Given the description of an element on the screen output the (x, y) to click on. 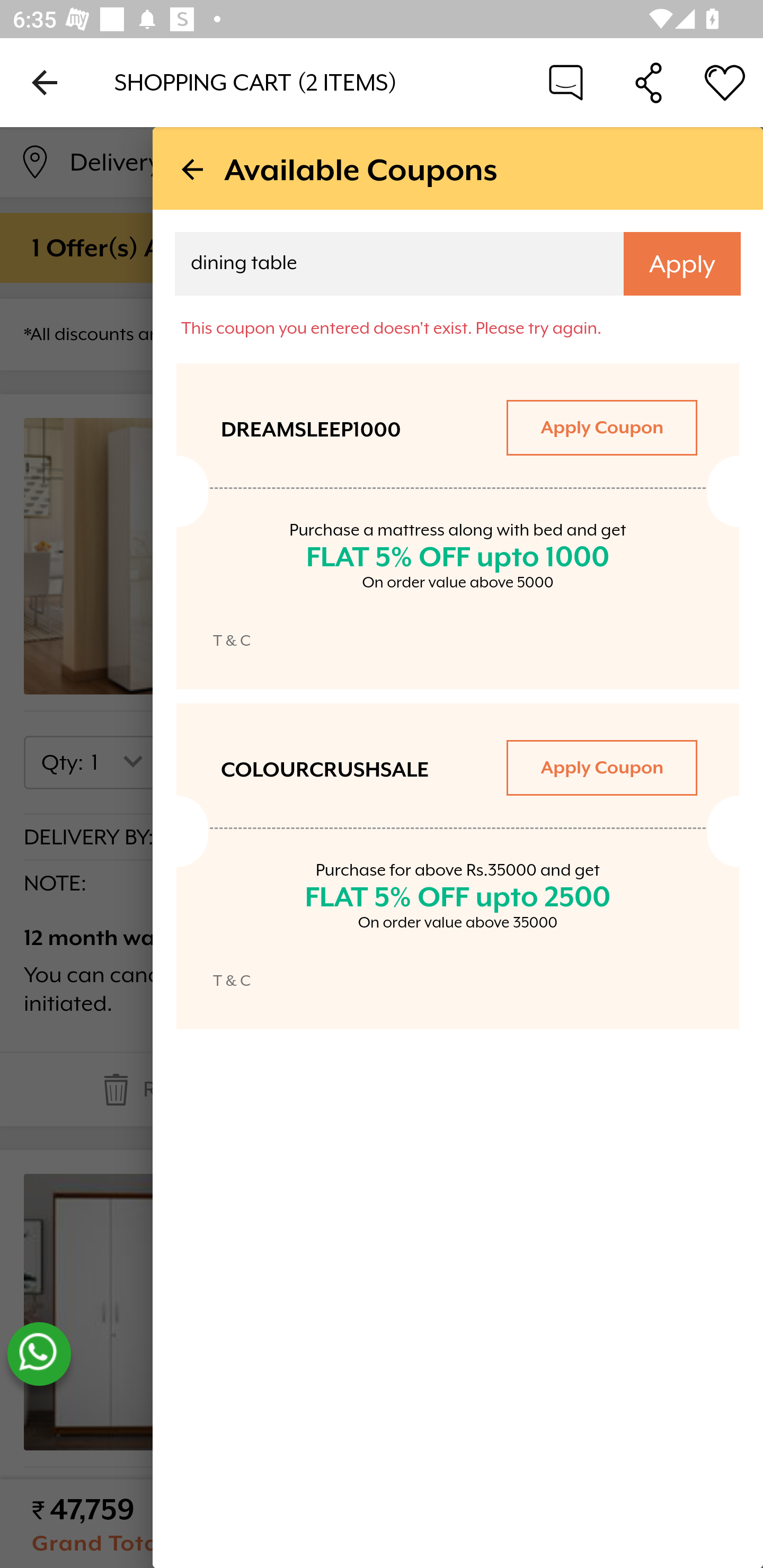
Navigate up (44, 82)
Chat (565, 81)
Share Cart (648, 81)
Wishlist (724, 81)
Apply (681, 264)
dining table (386, 266)
Apply Coupon (601, 427)
T & C (231, 640)
Apply Coupon (601, 767)
T & C (231, 979)
whatsapp (38, 1353)
